Given the description of an element on the screen output the (x, y) to click on. 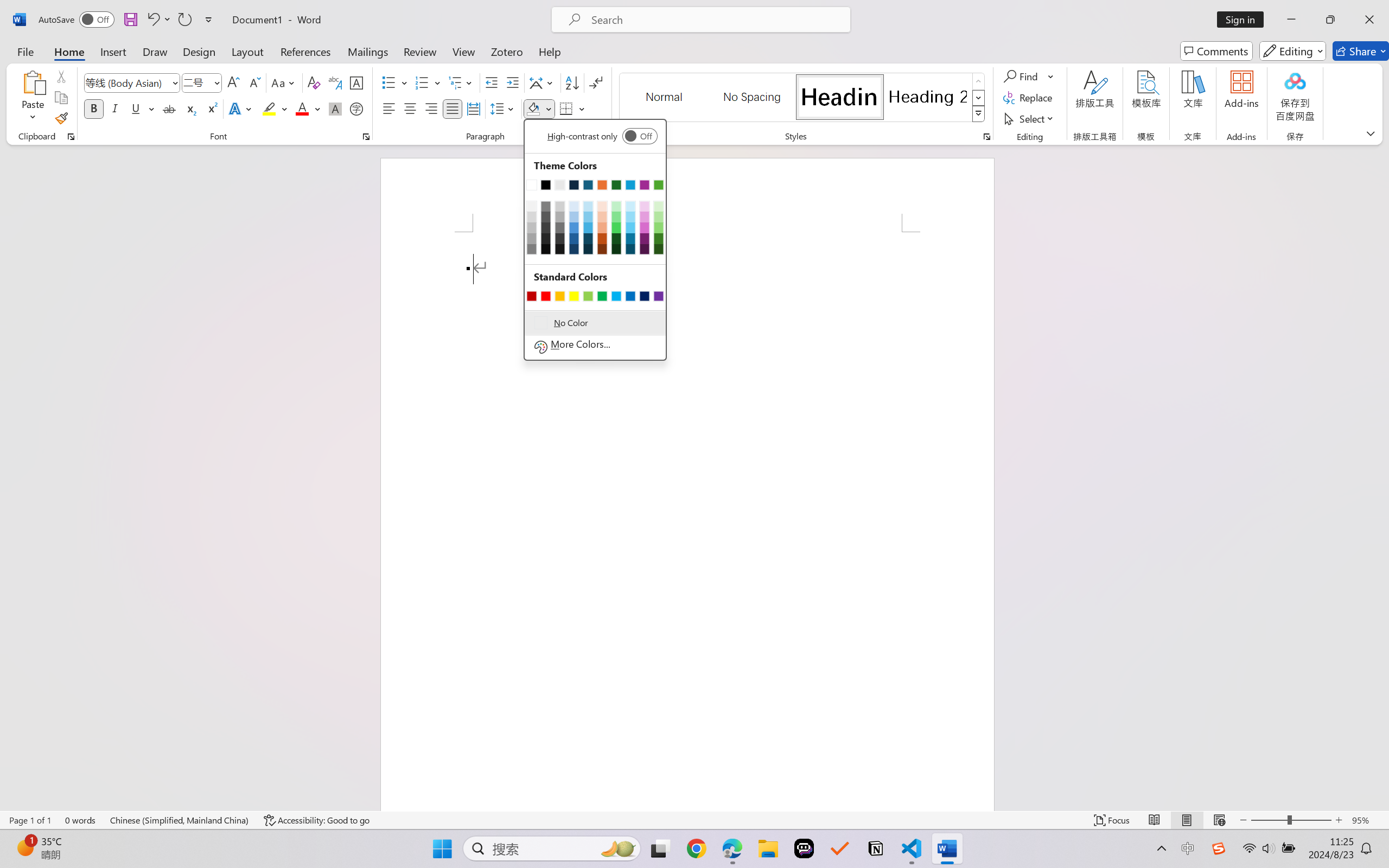
Shading No Color (533, 108)
